Given the description of an element on the screen output the (x, y) to click on. 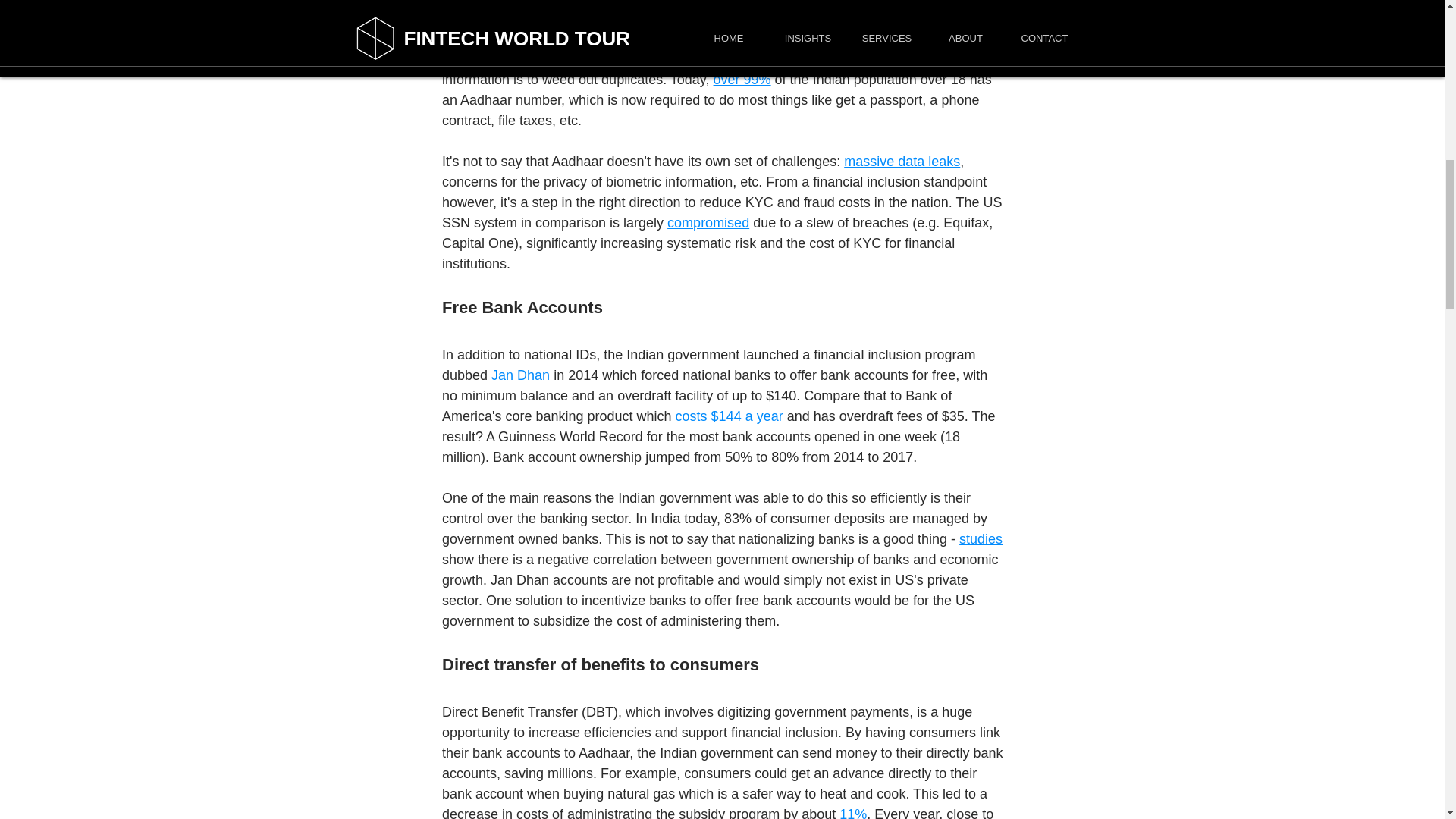
studies (981, 539)
Jan Dhan (521, 375)
compromised (707, 222)
massive data leaks (901, 160)
